Given the description of an element on the screen output the (x, y) to click on. 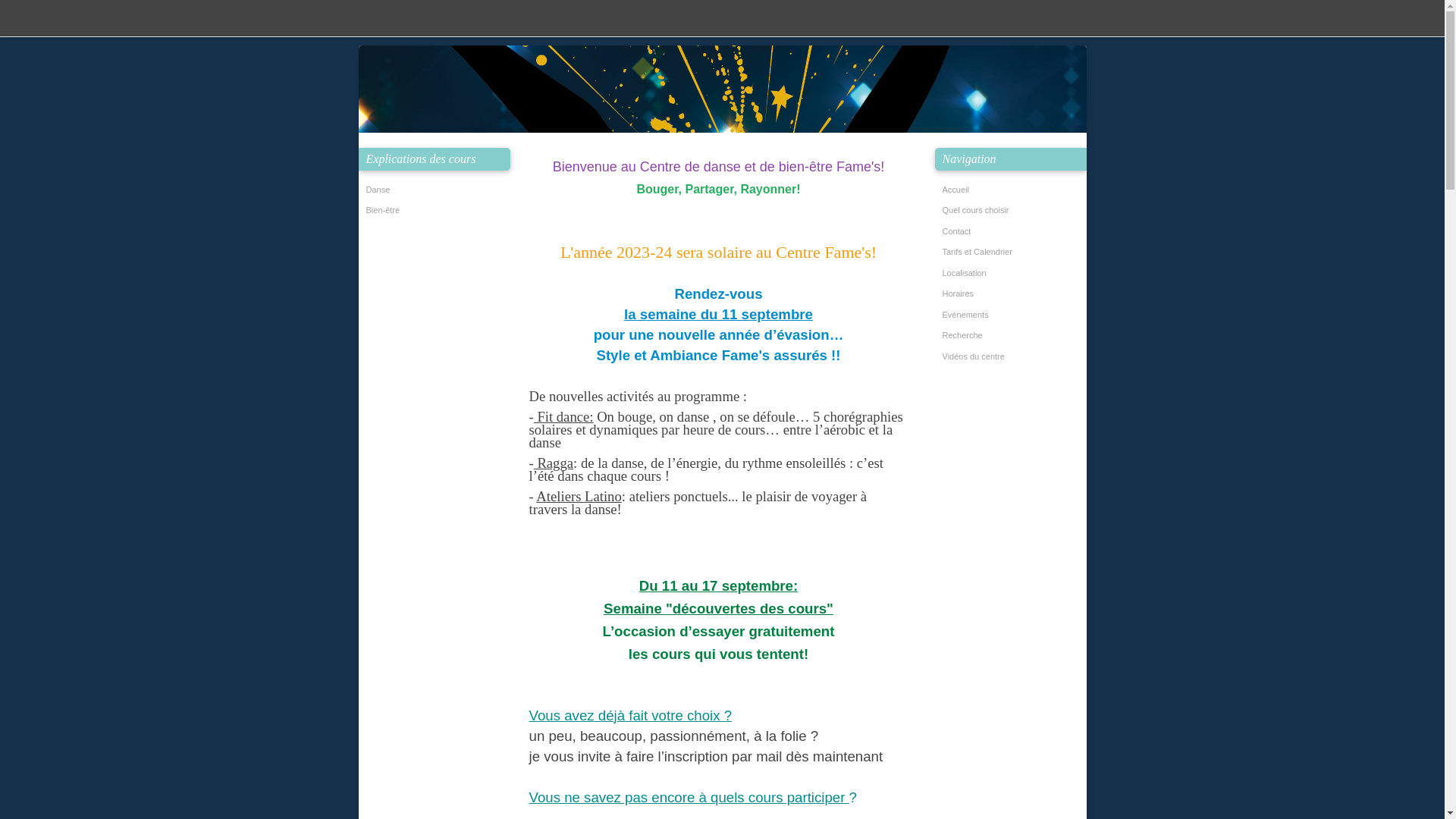
Localisation Element type: text (1012, 273)
Danse Element type: text (436, 190)
Contact Element type: text (1012, 231)
Horaires Element type: text (1012, 294)
Quel cours choisir Element type: text (1012, 210)
Recherche Element type: text (1012, 335)
Accueil Element type: text (1012, 190)
Tarifs et Calendrier Element type: text (1012, 252)
